Given the description of an element on the screen output the (x, y) to click on. 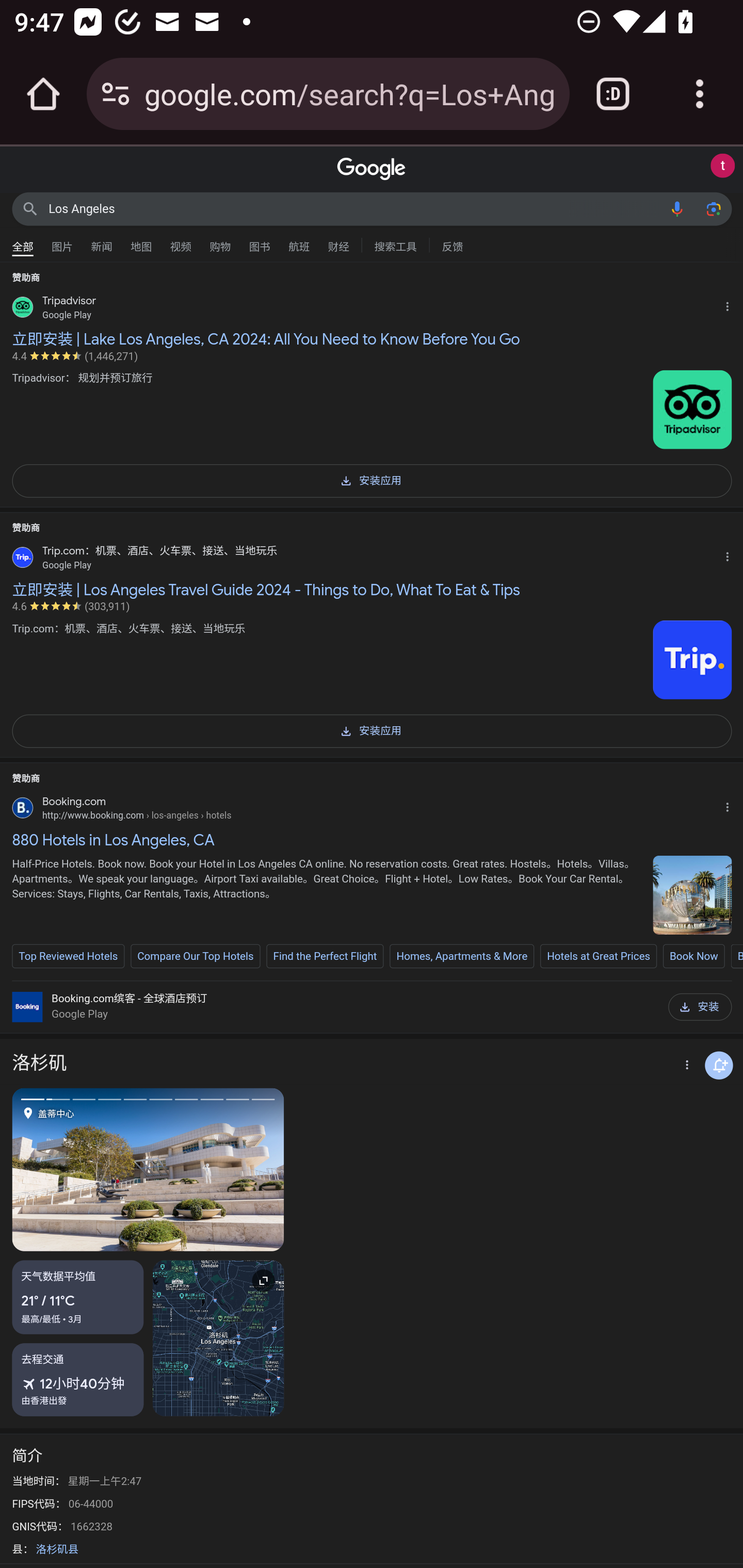
Open the home page (43, 93)
Connection is secure (115, 93)
Switch or close tabs (612, 93)
Customize and control Google Chrome (699, 93)
Google (371, 169)
Google 账号： test appium (testappium002@gmail.com) (722, 165)
Google 搜索 (29, 208)
使用拍照功能或照片进行搜索 (712, 208)
Los Angeles (353, 208)
图片 (62, 241)
新闻 (101, 241)
地图 (141, 241)
视频 (180, 241)
购物 (219, 241)
图书 (259, 241)
航班 (299, 241)
财经 (338, 241)
搜索工具 (395, 244)
反馈 (452, 244)
为什么会显示该广告？ (731, 303)
图片来自 google.com (691, 410)
安装应用 (371, 478)
为什么会显示该广告？ (731, 553)
图片来自 google.com (691, 659)
安装应用 (371, 729)
为什么会显示该广告？ (731, 804)
880 Hotels in Los Angeles, CA (371, 839)
图片来自 booking.com (691, 894)
Top Reviewed Hotels (67, 955)
Compare Our Top Hotels (195, 955)
Find the Perfect Flight (324, 955)
Homes, Apartments & More (461, 955)
Hotels at Great Prices (598, 955)
Book Now (693, 955)
安装 (699, 1006)
接收关于“洛杉矶”的通知 (718, 1065)
更多选项 (685, 1065)
天气数据平均值 21° / 11°C 最高/最低 • 3月 (77, 1297)
展开地图 (217, 1338)
去程交通 12小时40分钟 乘坐飞机 由香港出發 (77, 1379)
洛杉矶县 (56, 1549)
